Given the description of an element on the screen output the (x, y) to click on. 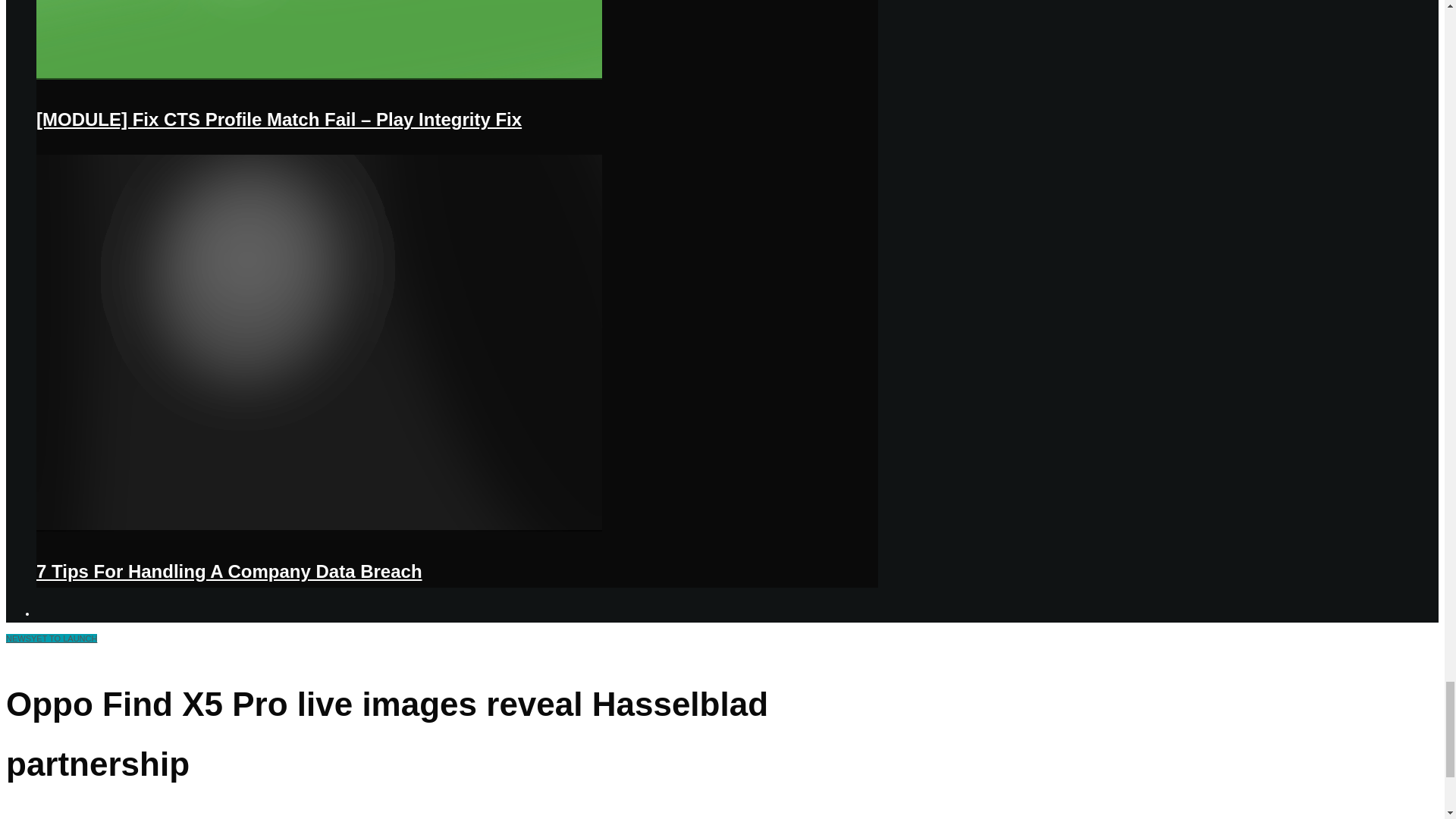
CTS Profile Match Fail Fix (319, 76)
